Given the description of an element on the screen output the (x, y) to click on. 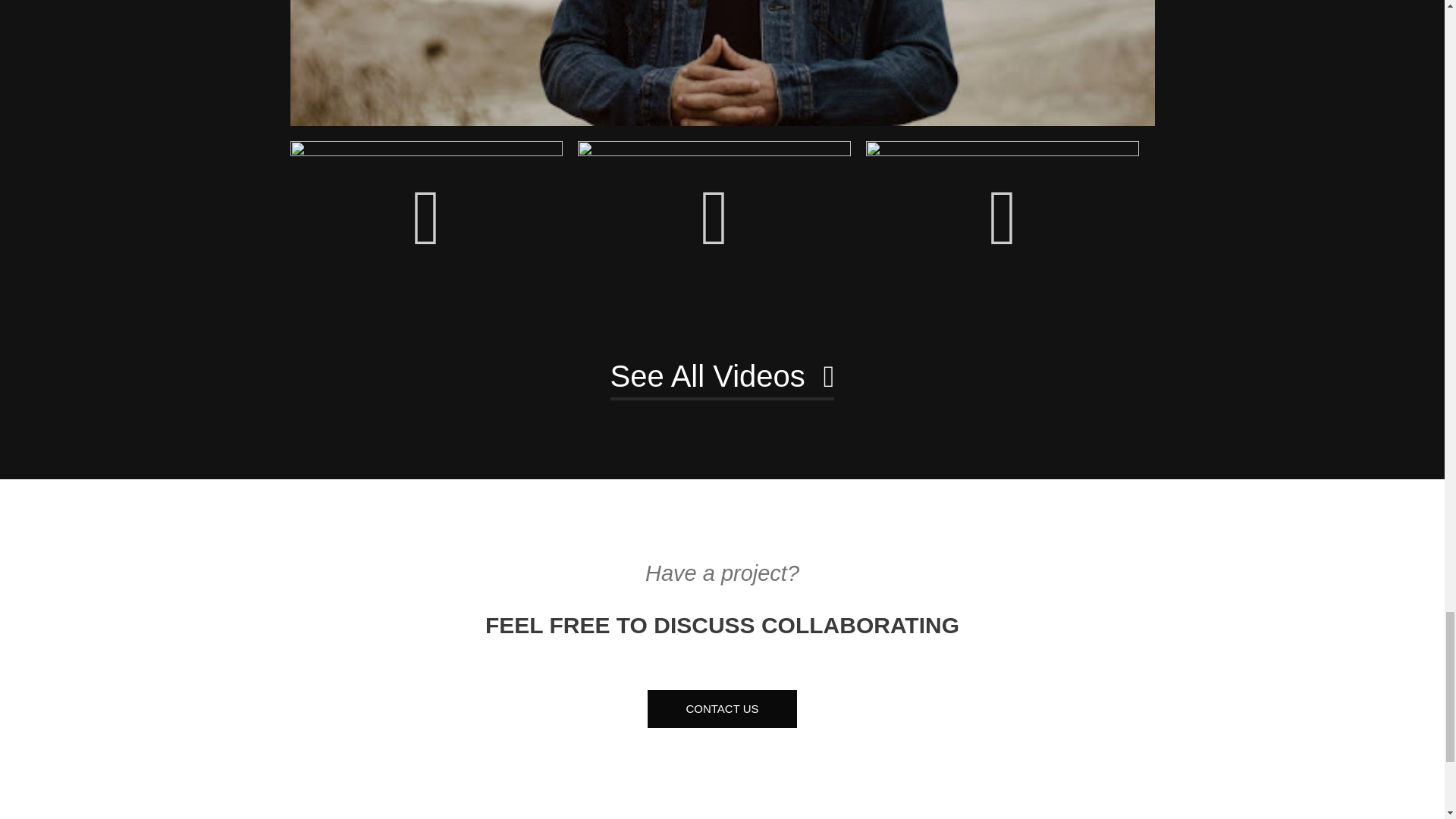
See All Videos (722, 378)
CONTACT US (721, 709)
